Given the description of an element on the screen output the (x, y) to click on. 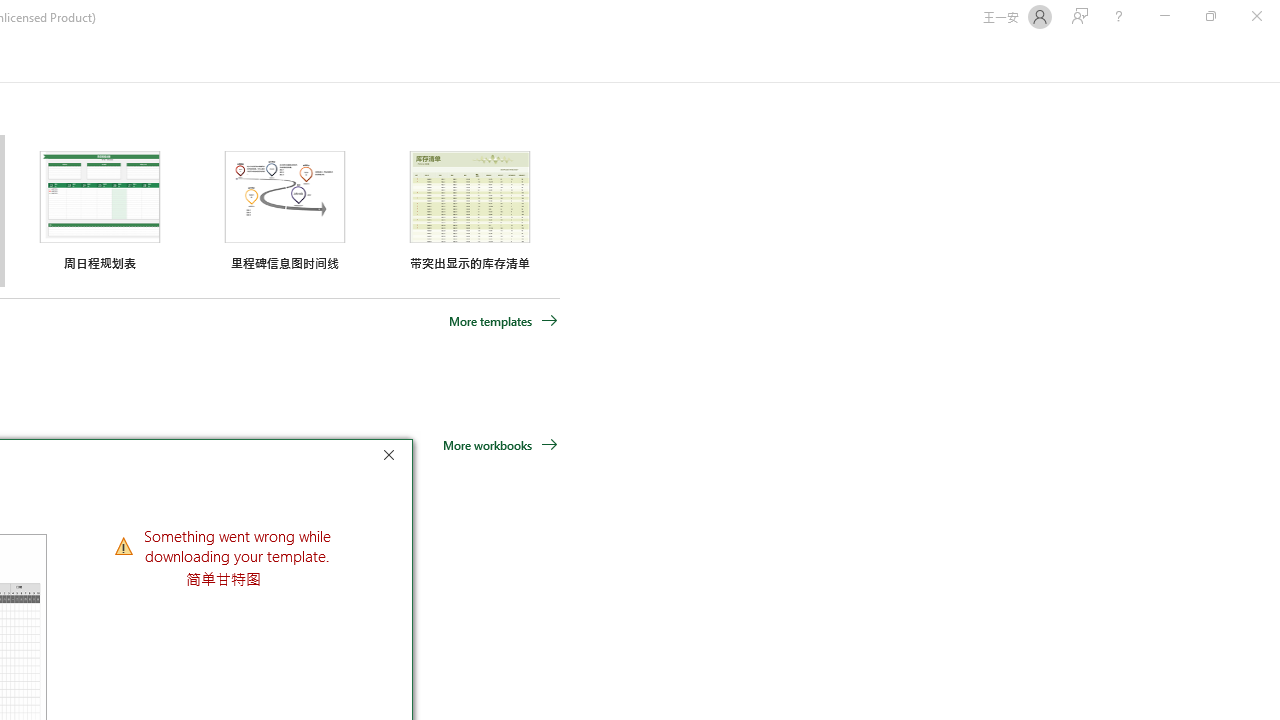
More templates (503, 321)
Help (1118, 16)
More workbooks (500, 444)
Minimize (1164, 16)
Restore Down (1210, 16)
Close (393, 457)
Class: NetUIImage (123, 545)
Class: NetUIScrollBar (1271, 59)
